Given the description of an element on the screen output the (x, y) to click on. 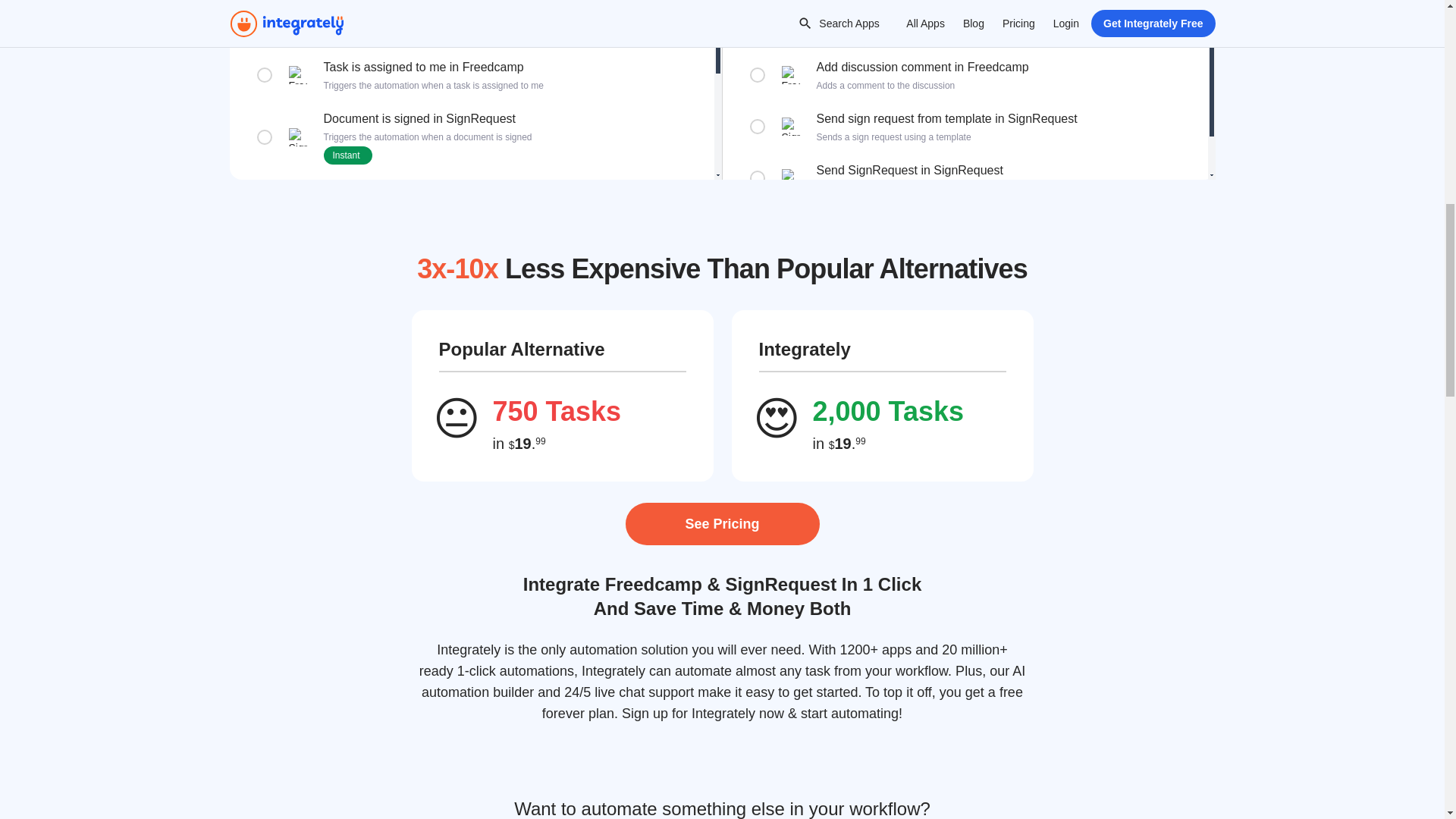
See Pricing (721, 523)
